Given the description of an element on the screen output the (x, y) to click on. 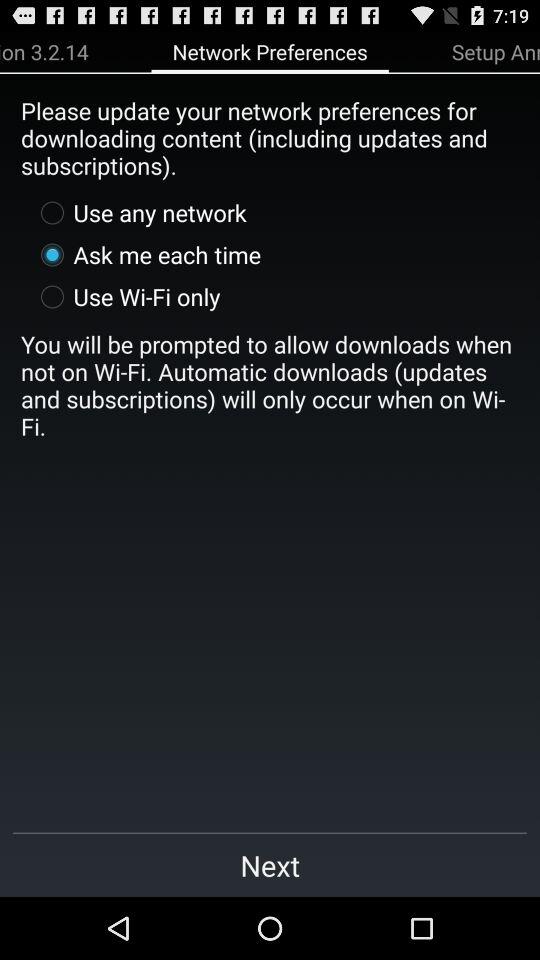
choose the app to the right of network preferences icon (495, 51)
